Given the description of an element on the screen output the (x, y) to click on. 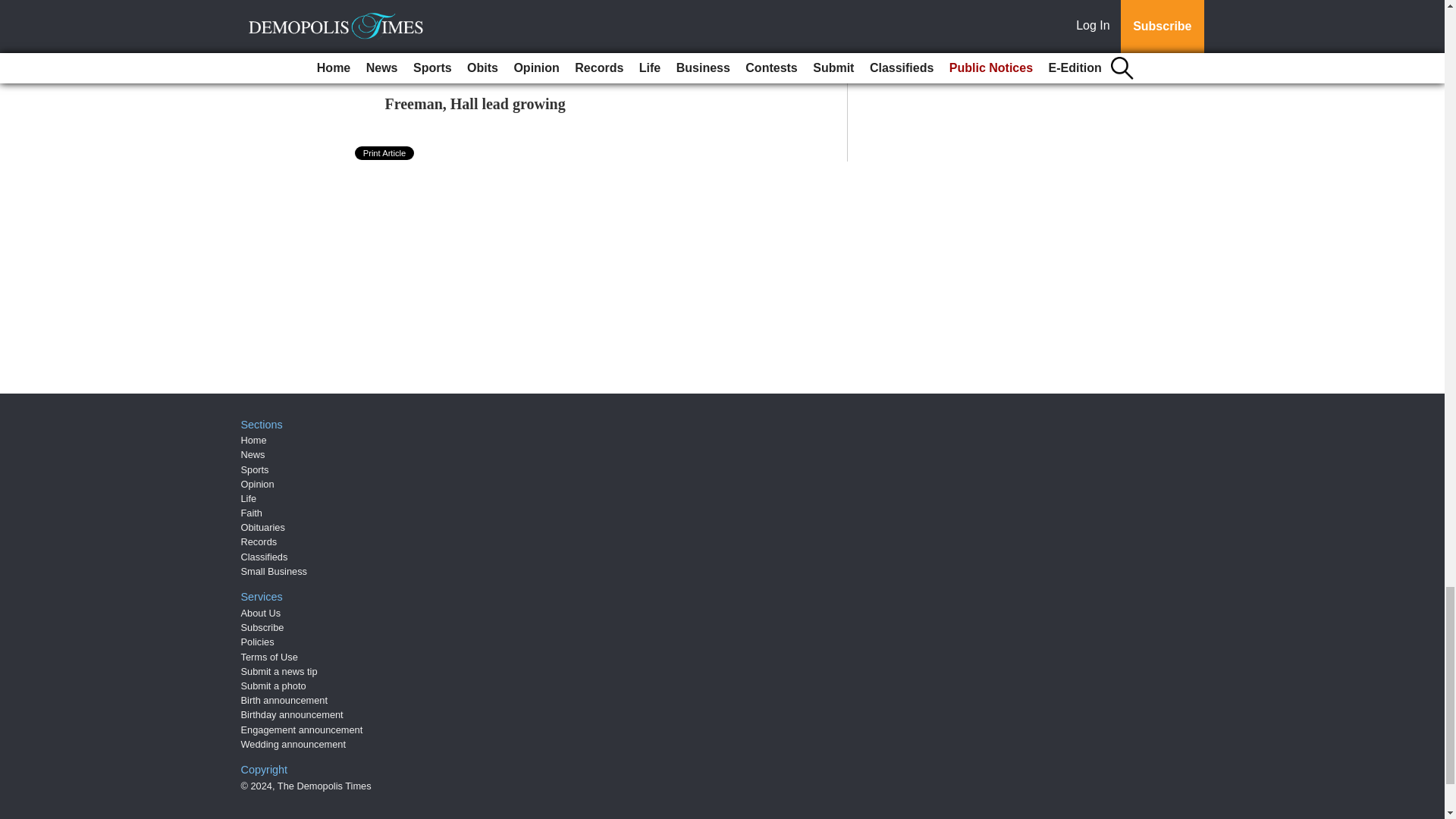
Home (253, 439)
Print Article (384, 152)
Petrey takes D2 race; Hall and Freeman cling to large lead (573, 52)
Freeman, Hall, Petrey win runoffs (495, 4)
Petrey takes D2 race; Hall and Freeman cling to large lead (573, 52)
Obituaries (263, 527)
Freeman, Hall lead growing (475, 103)
Opinion (258, 483)
Freeman, Hall lead growing (475, 103)
Faith (251, 512)
Sports (255, 469)
News (252, 454)
Freeman, Hall, Petrey win runoffs (495, 4)
Life (249, 498)
